Given the description of an element on the screen output the (x, y) to click on. 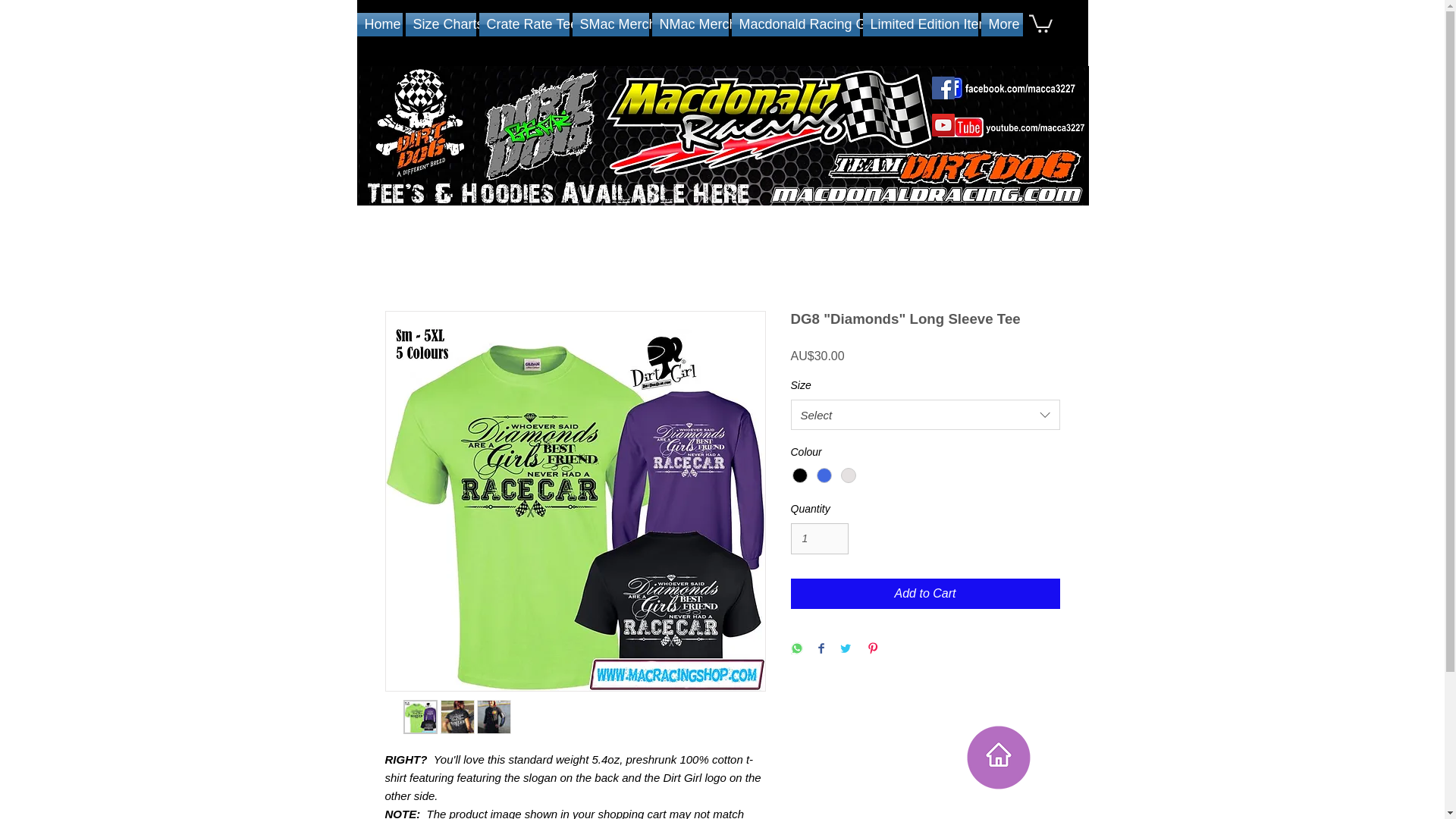
Select (924, 414)
Peters banner dirt dog.jpg (721, 135)
Limited Edition Items (920, 24)
Home (379, 24)
Size Charts (440, 24)
1 (818, 538)
Macdonald Racing Gear (794, 24)
SMac Merch (609, 24)
Crate Rate Tees (523, 24)
Add to Cart (924, 593)
NMac Merch (690, 24)
